Given the description of an element on the screen output the (x, y) to click on. 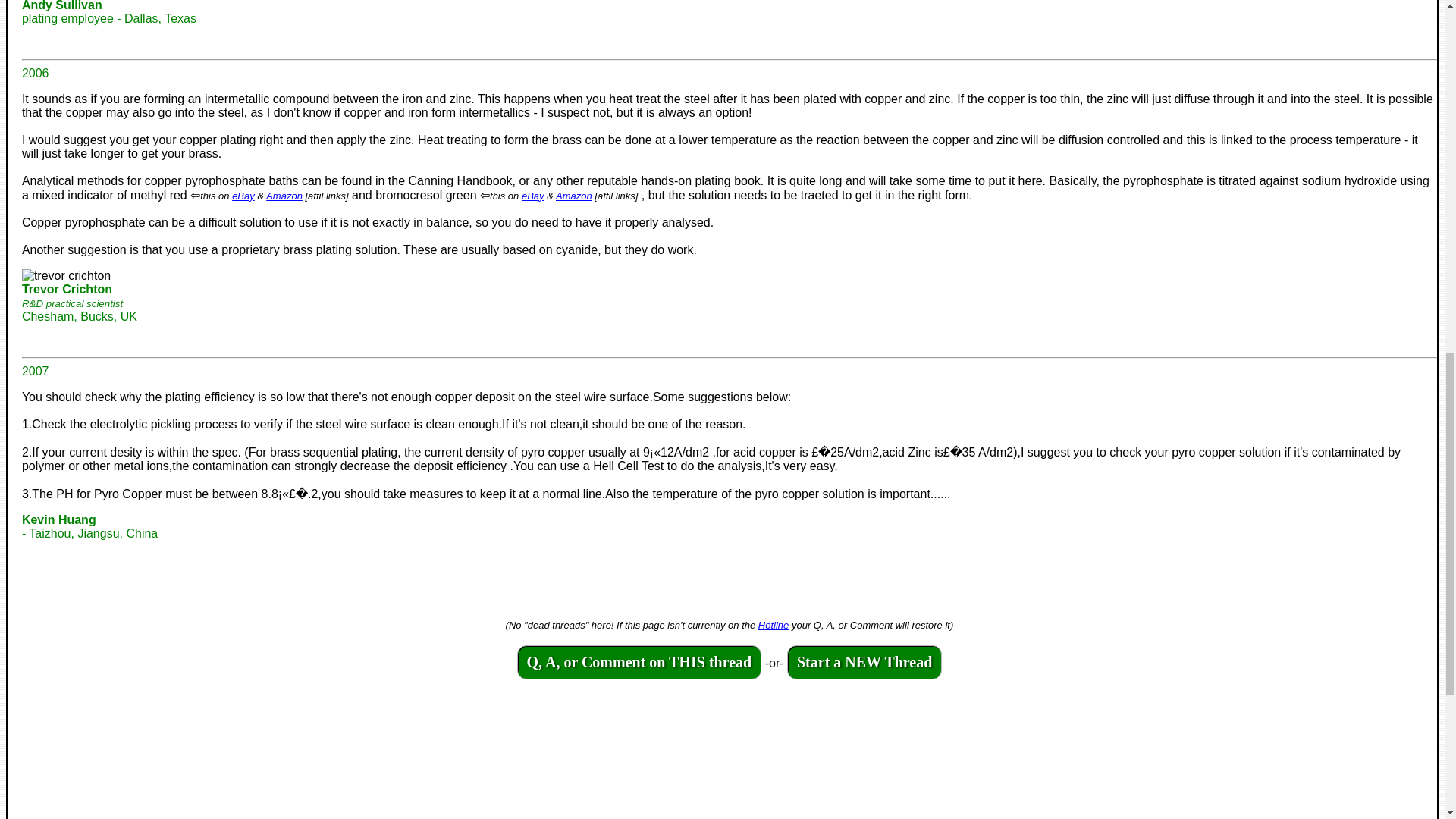
eBay (242, 195)
Amazon (284, 195)
eBay (532, 195)
Advertisement (476, 767)
Start a NEW Thread (864, 662)
Hotline (773, 624)
Q, A, or Comment on THIS thread (638, 662)
Amazon (574, 195)
